Given the description of an element on the screen output the (x, y) to click on. 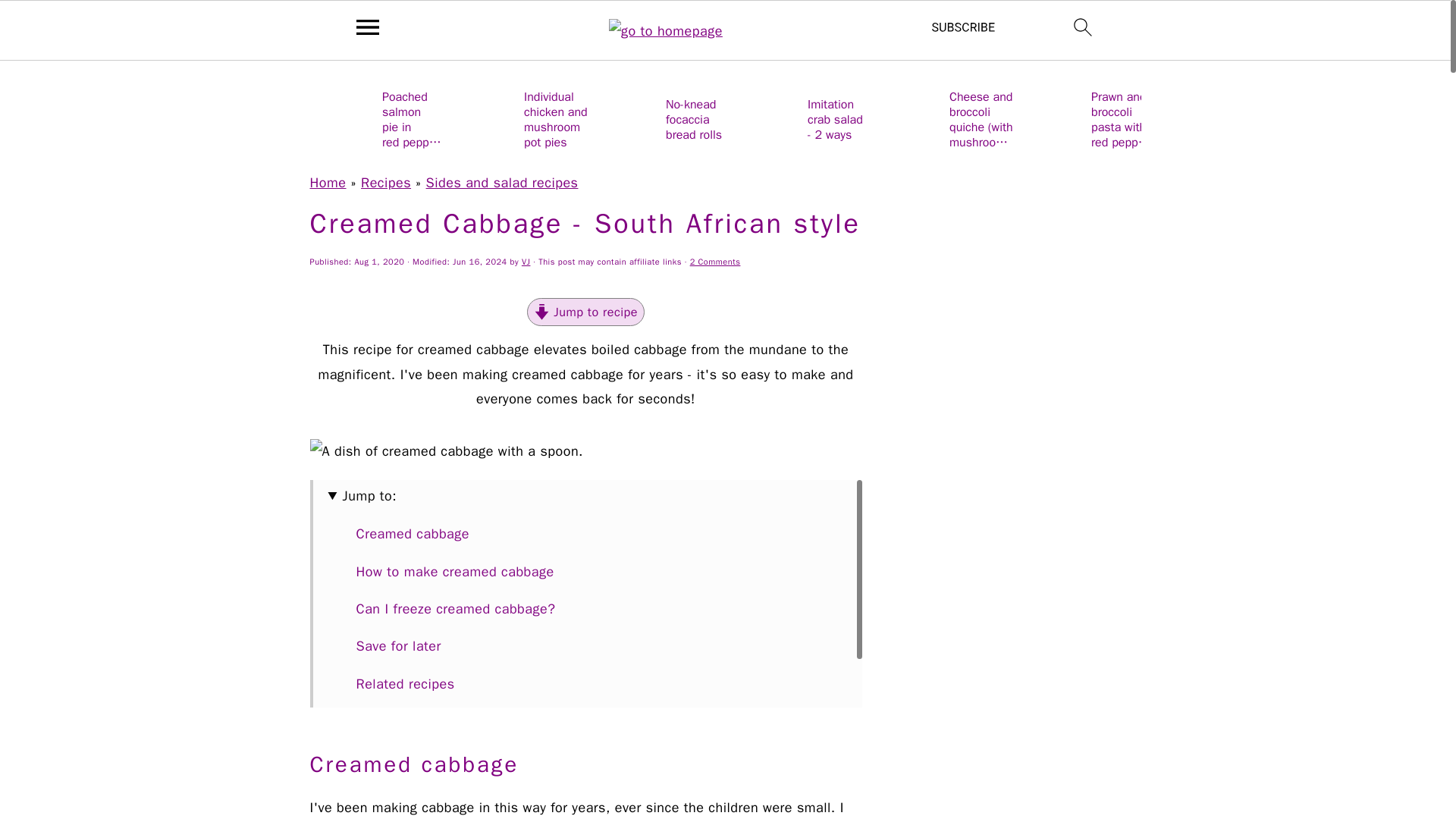
Home (327, 182)
No-knead focaccia bread rolls (660, 118)
French onion chicken casserole (1371, 118)
search icon (1083, 26)
Poached salmon pie in red pepper sauce (376, 118)
menu icon (368, 26)
Jump to recipe (586, 311)
Prawn and broccoli pasta with red pepper sauce (1087, 118)
30-second microwave chocolate pots (1228, 118)
Imitation crab salad - 2 ways (803, 118)
Individual chicken and mushroom pot pies (519, 118)
